Given the description of an element on the screen output the (x, y) to click on. 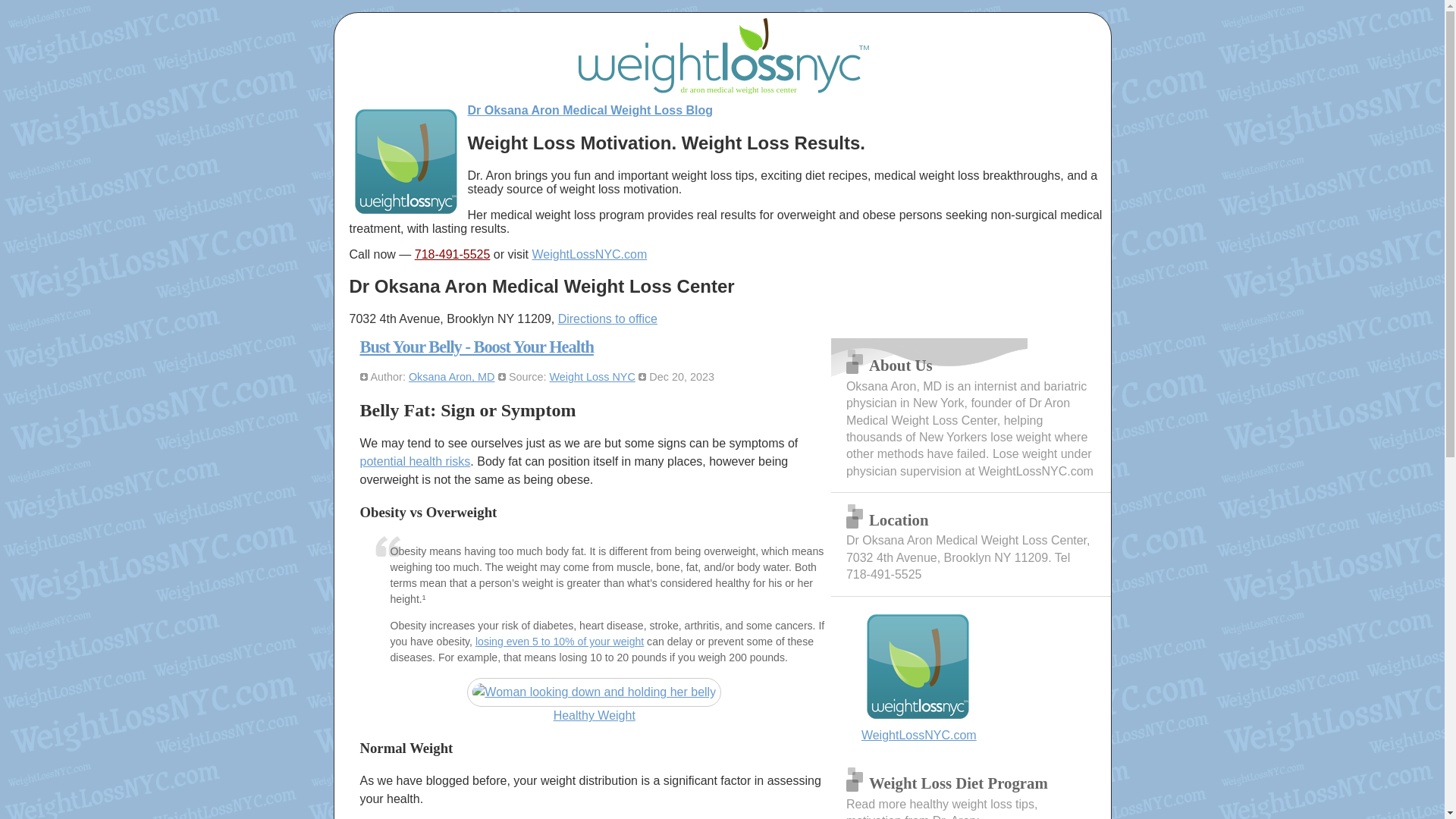
Bust Your Belly - Boost Your Health (475, 346)
718-491-5525 (452, 254)
Dr Oksana Aron Medical Weight Loss Blog (590, 110)
Healthy Weight (593, 701)
WeightLossNYC.com (589, 254)
Weight Loss NYC (592, 377)
WeightLossNYC.com (970, 676)
potential health risks (414, 461)
Bust Your Belly - Boost Your Health (475, 346)
Dr Oksana Aron Medical Weight Loss Center, Brooklyn NYC (406, 213)
Dr Oksana Aron Medical Weight Loss Center, Brooklyn NYC (589, 254)
Dr Oksana Aron Medical Weight Loss Center, Brooklyn NYC (970, 676)
Dr Aron Medical Weight Loss Center blog (590, 110)
Directions to office (607, 318)
Oksana Aron, MD (452, 377)
